Given the description of an element on the screen output the (x, y) to click on. 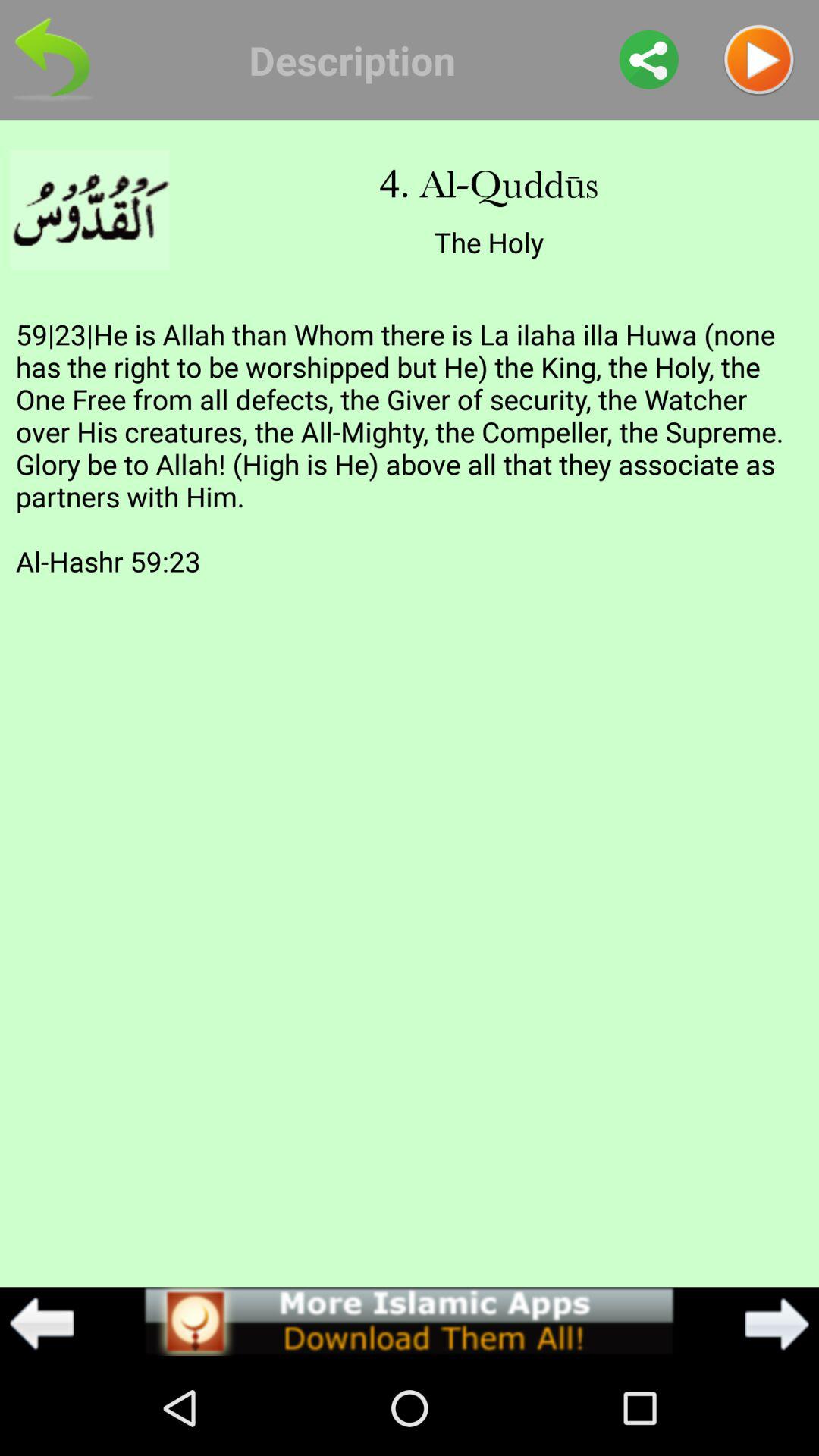
select item below 59 23 he (776, 1323)
